Given the description of an element on the screen output the (x, y) to click on. 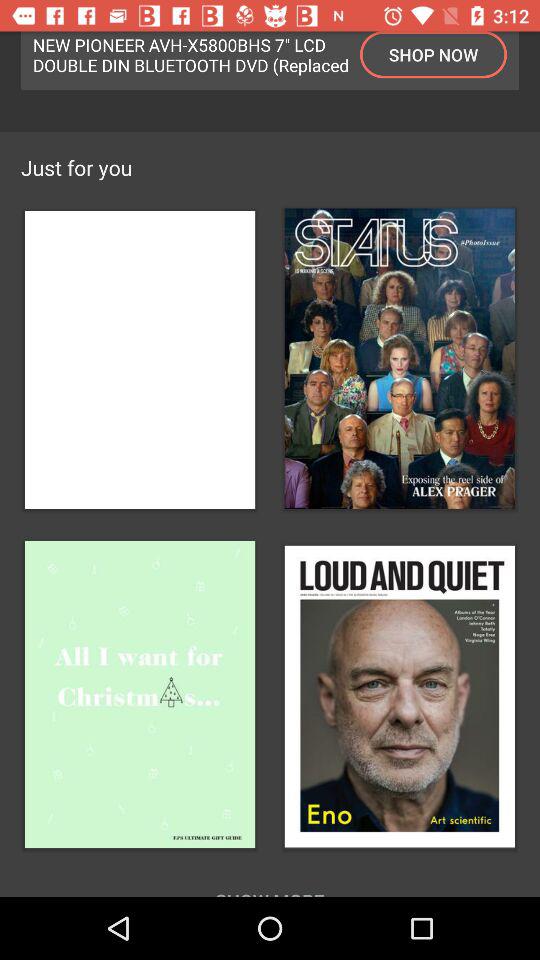
swipe until shop now item (433, 54)
